Given the description of an element on the screen output the (x, y) to click on. 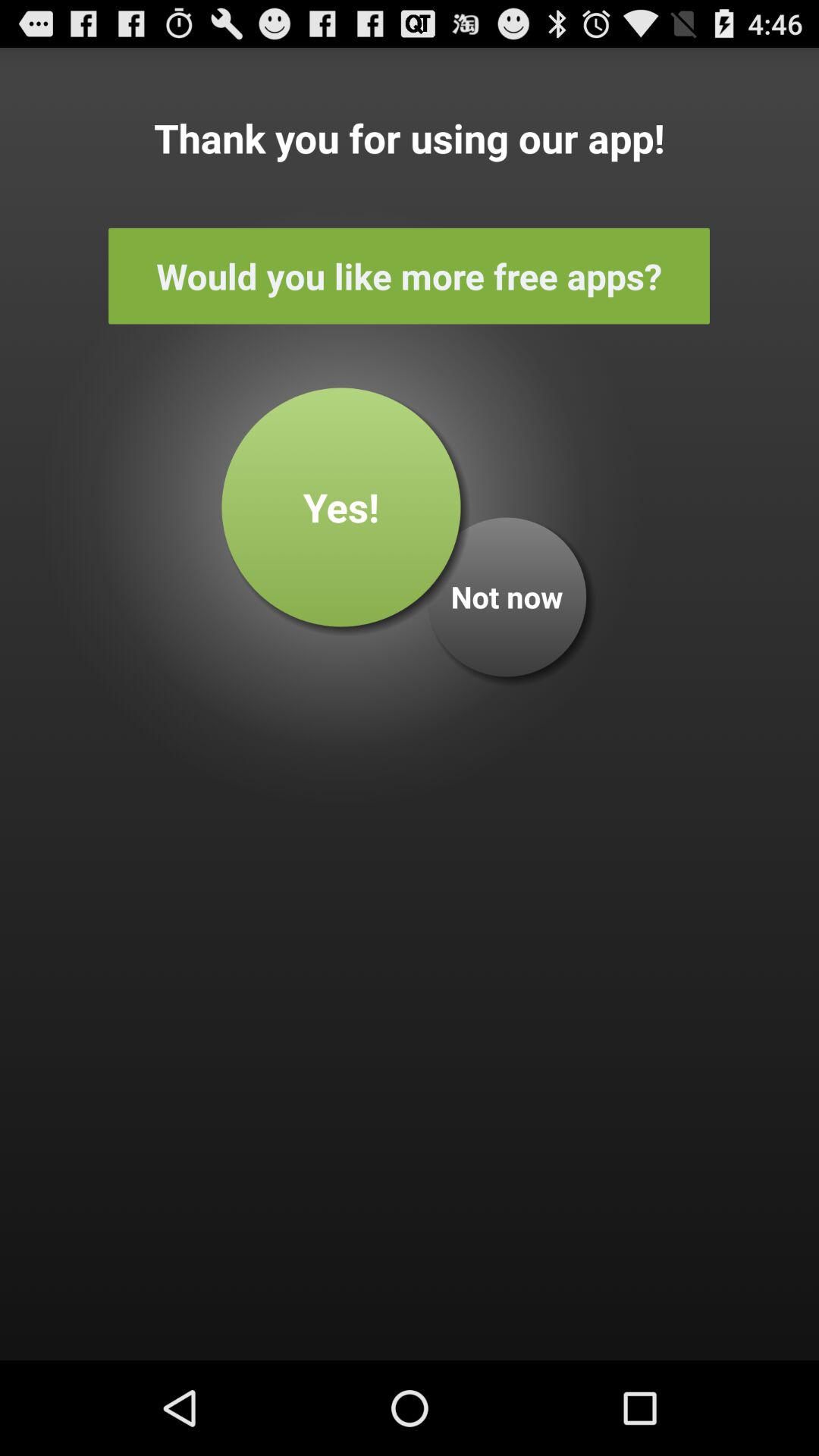
swipe to not now item (506, 596)
